Given the description of an element on the screen output the (x, y) to click on. 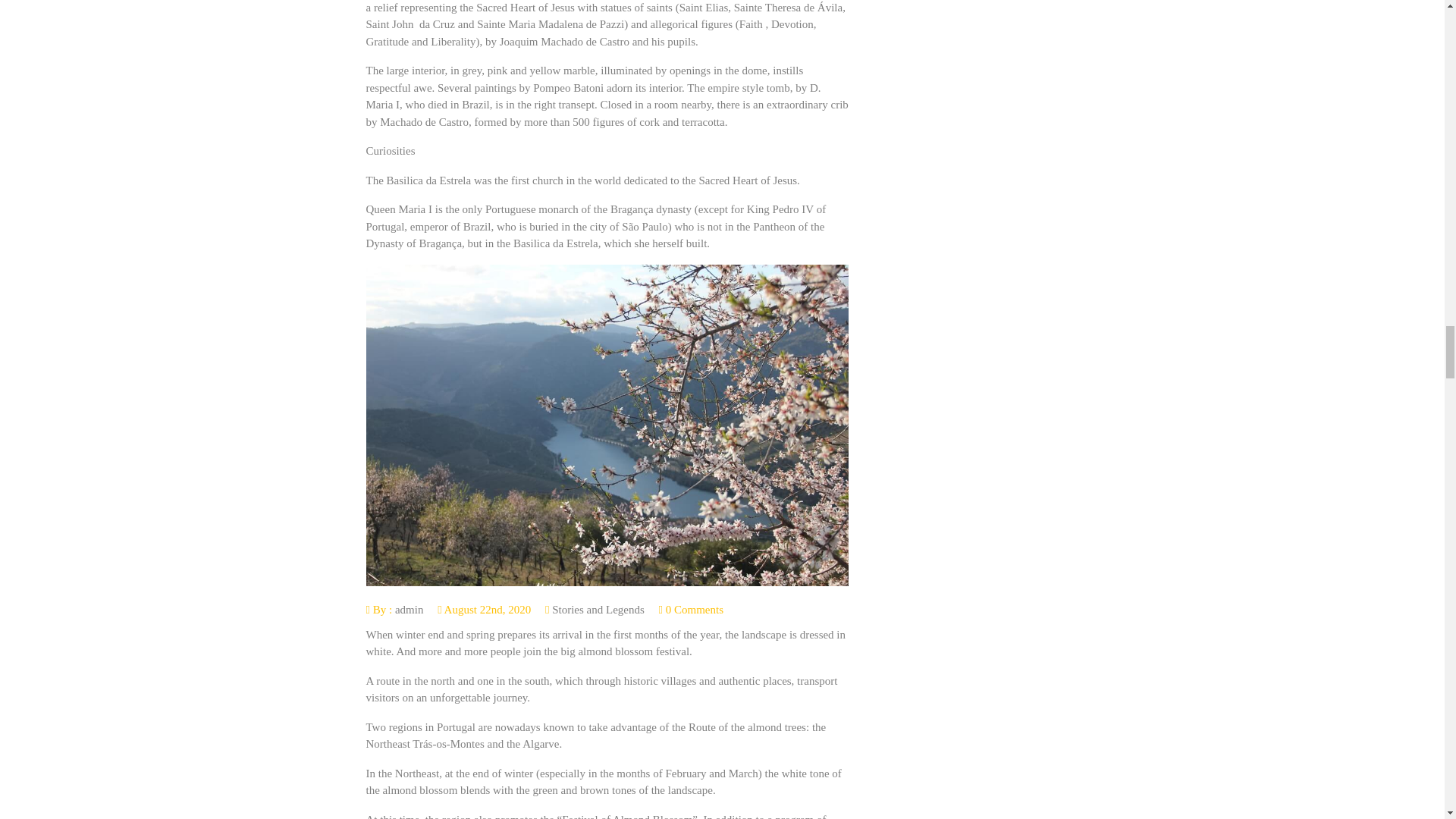
Stories and Legends (598, 609)
Posts by admin (408, 609)
admin (408, 609)
